Given the description of an element on the screen output the (x, y) to click on. 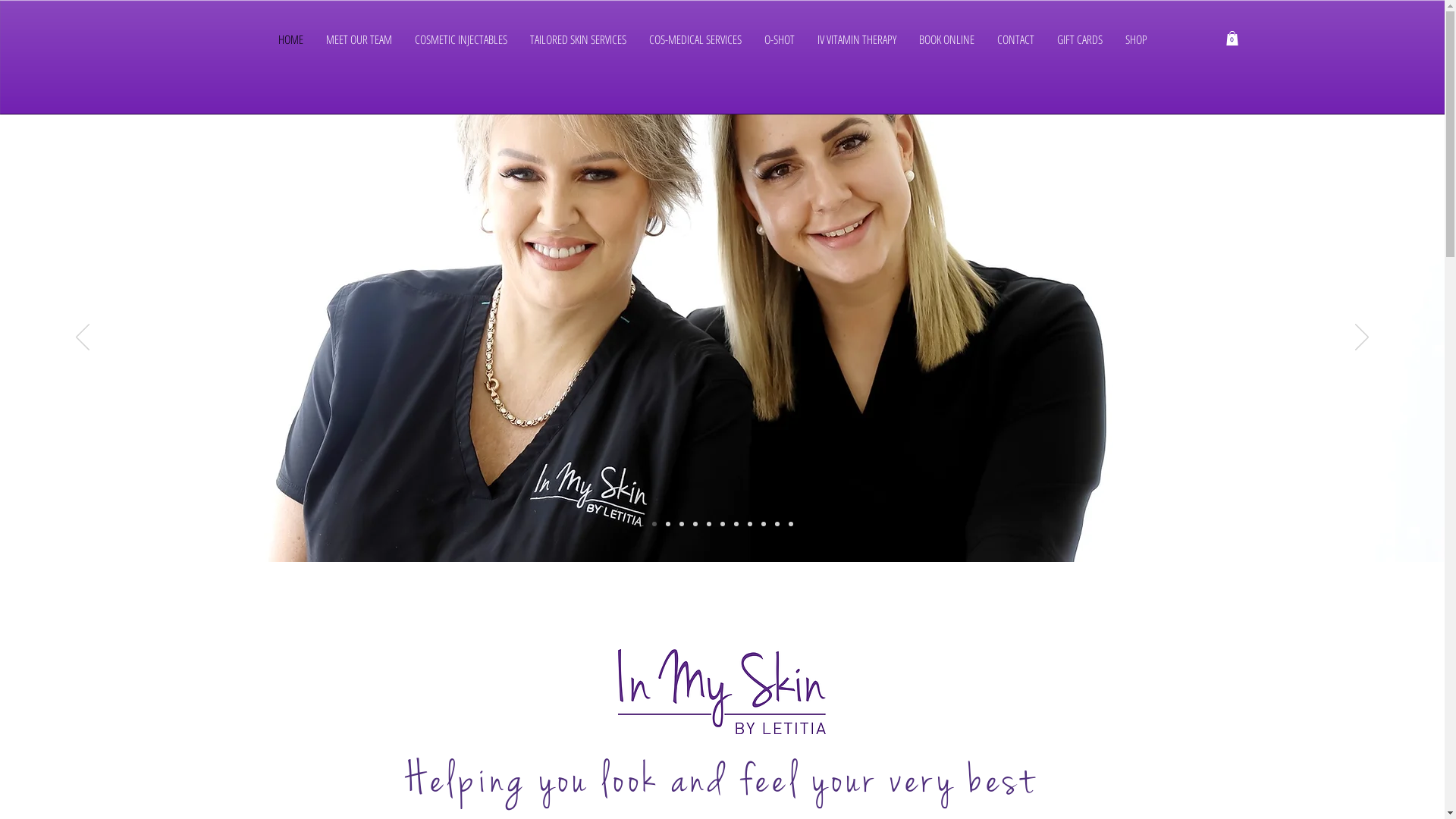
IV VITAMIN THERAPY Element type: text (855, 49)
HOME Element type: text (290, 49)
MEET OUR TEAM Element type: text (357, 49)
TAILORED SKIN SERVICES Element type: text (577, 49)
BOOK ONLINE Element type: text (945, 49)
SHOP Element type: text (1135, 49)
COSMETIC INJECTABLES Element type: text (460, 49)
O-SHOT Element type: text (778, 49)
GIFT CARDS Element type: text (1078, 49)
0 Element type: text (1231, 38)
CONTACT Element type: text (1015, 49)
COS-MEDICAL SERVICES Element type: text (694, 49)
